Given the description of an element on the screen output the (x, y) to click on. 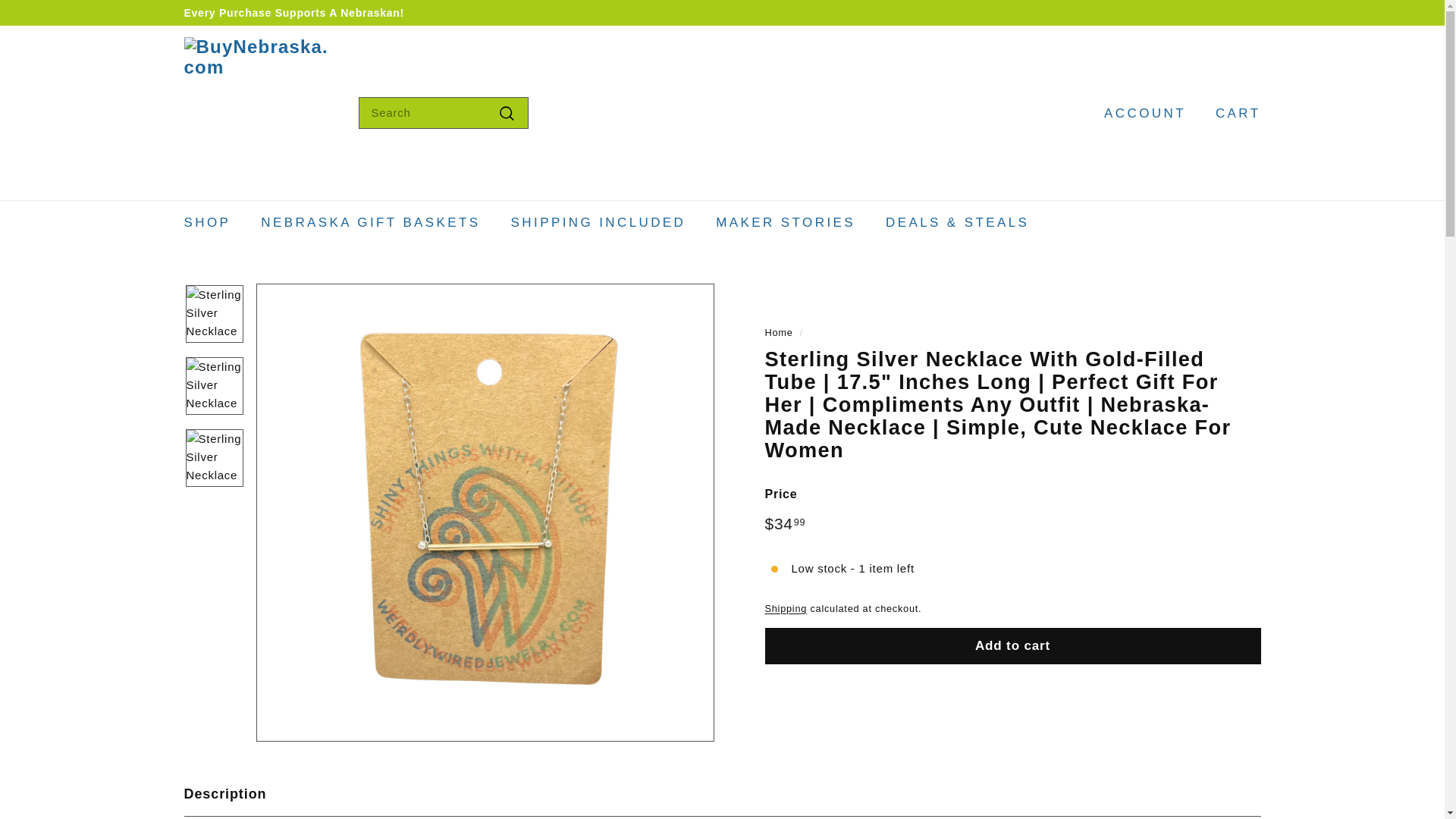
ACCOUNT (1139, 112)
Twitter (1233, 12)
BuyNebraska.com on Twitter (1233, 12)
YouTube (1226, 12)
Instagram (1210, 12)
Pinterest (1240, 12)
BuyNebraska.com on LinkedIn (1256, 12)
BuyNebraska.com on Facebook (1218, 12)
BuyNebraska.com on Instagram (1210, 12)
LinkedIn (1256, 12)
Back to the frontpage (778, 332)
TikTok (1248, 12)
CART (1232, 112)
BuyNebraska.com on YouTube (1226, 12)
